Given the description of an element on the screen output the (x, y) to click on. 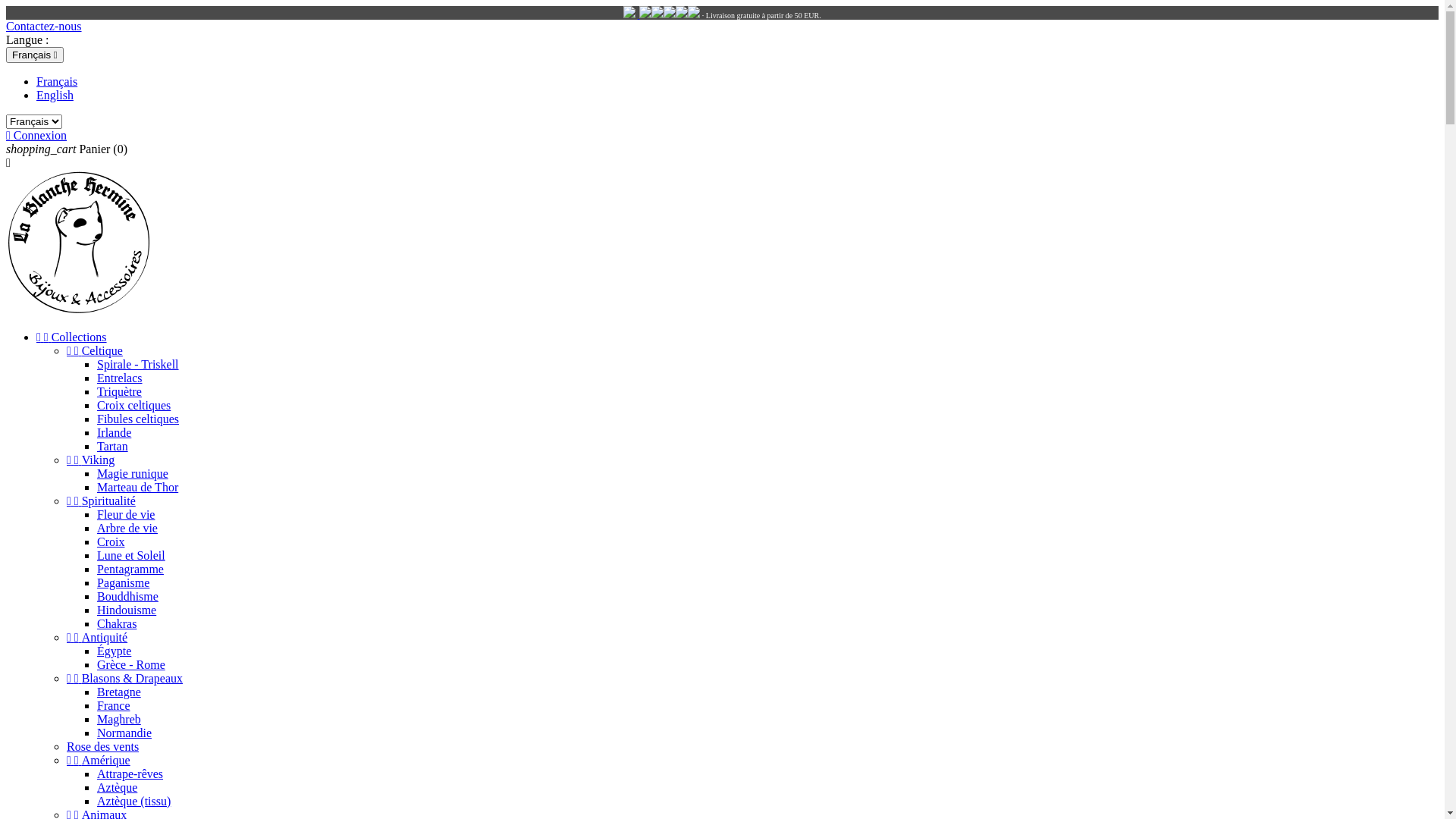
Fleur de vie Element type: text (125, 514)
Bouddhisme Element type: text (127, 595)
Rose des vents Element type: text (102, 746)
Contactez-nous Element type: text (43, 25)
Arbre de vie Element type: text (127, 527)
Tartan Element type: text (112, 445)
Chakras Element type: text (116, 623)
Bretagne Element type: text (119, 691)
Marteau de Thor Element type: text (137, 486)
Pentagramme Element type: text (130, 568)
Normandie Element type: text (124, 732)
  Element type: text (668, 15)
Fibules celtiques Element type: text (137, 418)
Irlande Element type: text (114, 432)
Magie runique Element type: text (132, 473)
Lune et Soleil Element type: text (131, 555)
Entrelacs Element type: text (119, 377)
Spirale - Triskell Element type: text (137, 363)
Croix Element type: text (110, 541)
France Element type: text (113, 705)
Croix celtiques Element type: text (133, 404)
Hindouisme Element type: text (126, 609)
Paganisme Element type: text (123, 582)
Maghreb Element type: text (119, 718)
English Element type: text (54, 94)
